Given the description of an element on the screen output the (x, y) to click on. 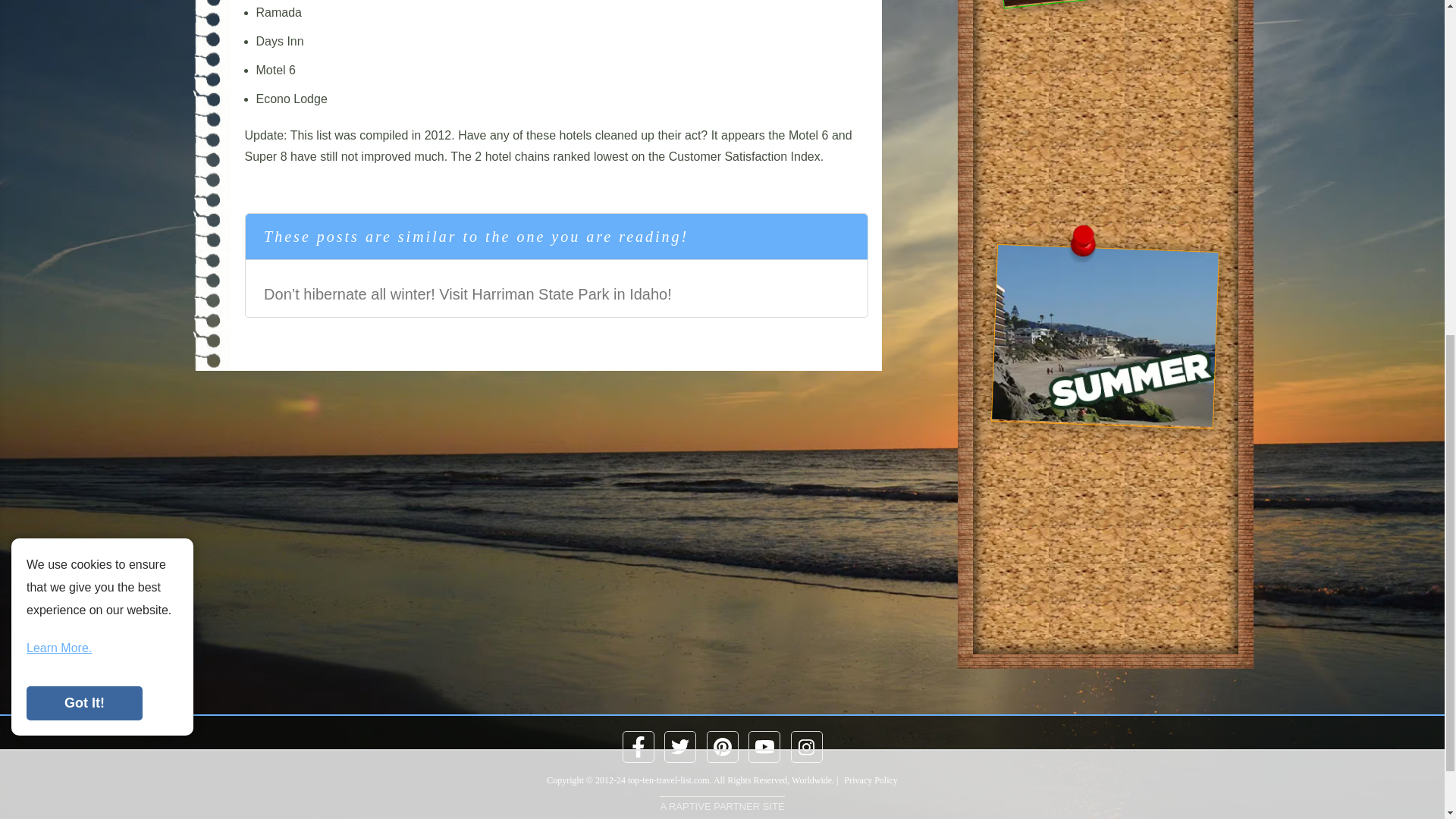
Top Ten Travel List on Facebook (638, 746)
Top Ten Travel List on Twitter (680, 746)
Top Ten Travel List on Youtube (763, 746)
Top Ten Travel List on Pinterest (721, 746)
Top Ten Travel List on Instagram (807, 746)
